Given the description of an element on the screen output the (x, y) to click on. 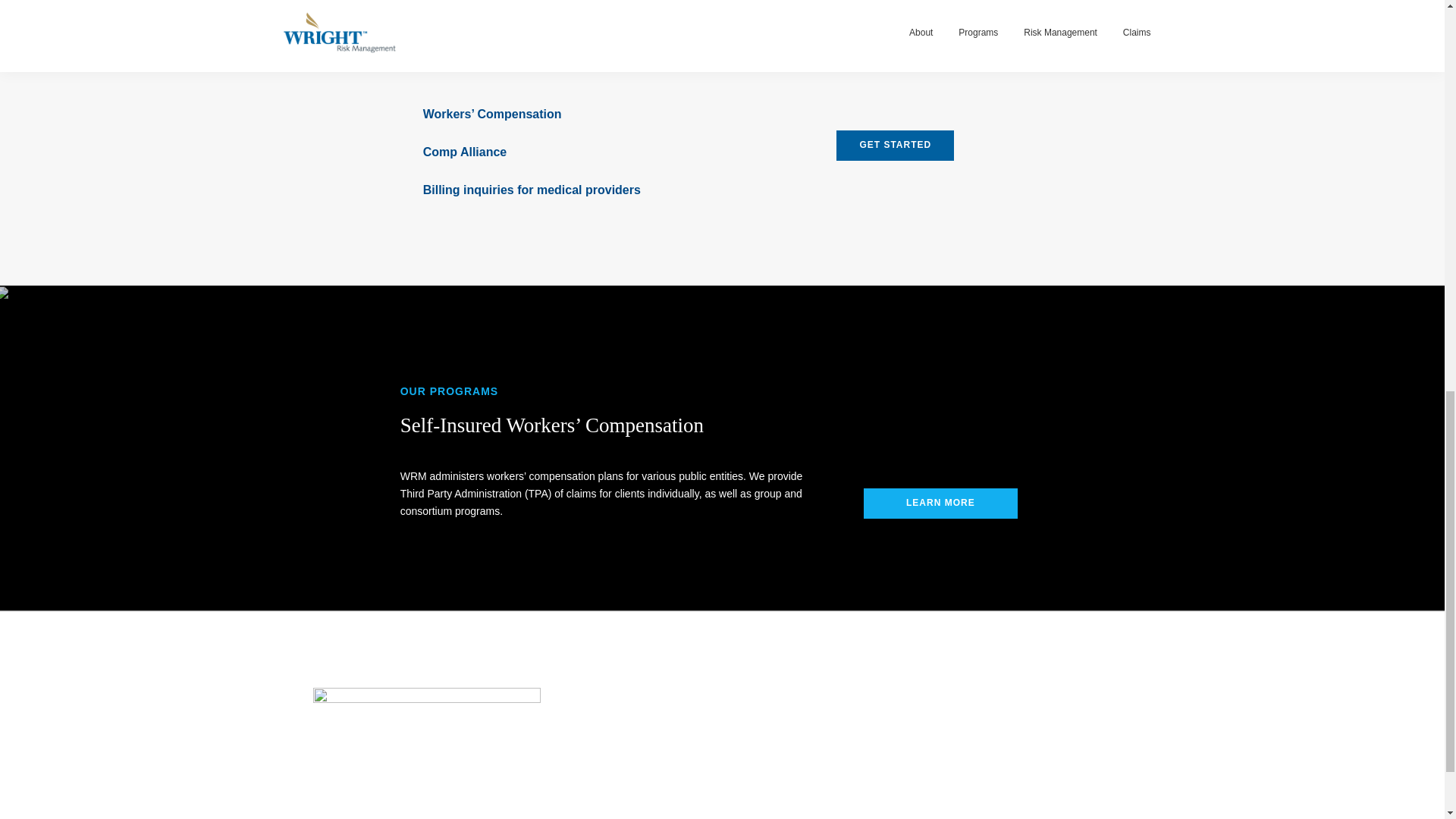
News (755, 733)
Self-Insured Work Comp (933, 733)
GET STARTED (894, 145)
Contact Us (766, 751)
Company History (778, 715)
LEARN MORE (940, 503)
Claims (1037, 733)
Risk Management (1060, 715)
Comp Alliance (912, 715)
